Given the description of an element on the screen output the (x, y) to click on. 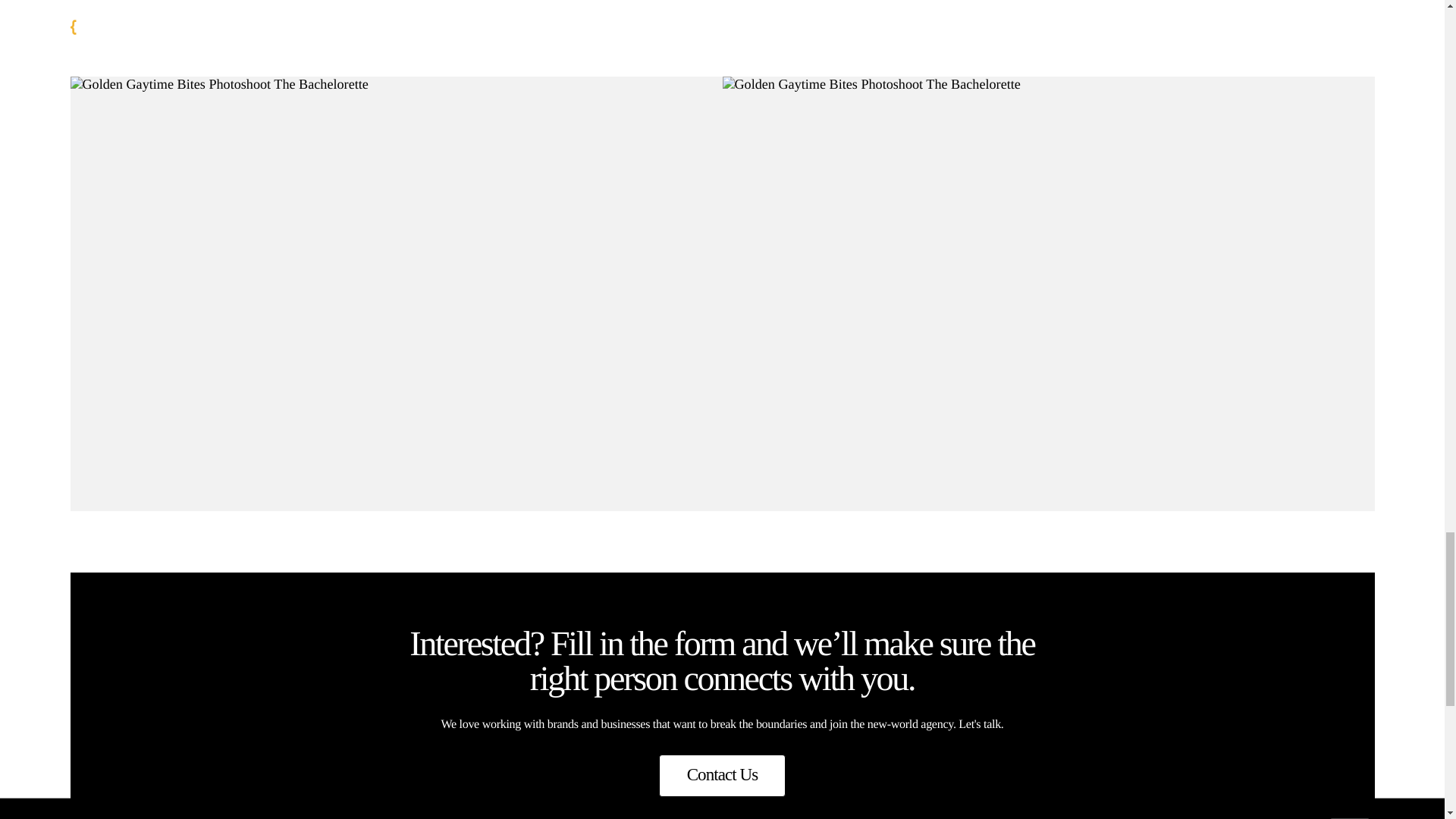
Contact Us (722, 775)
